Given the description of an element on the screen output the (x, y) to click on. 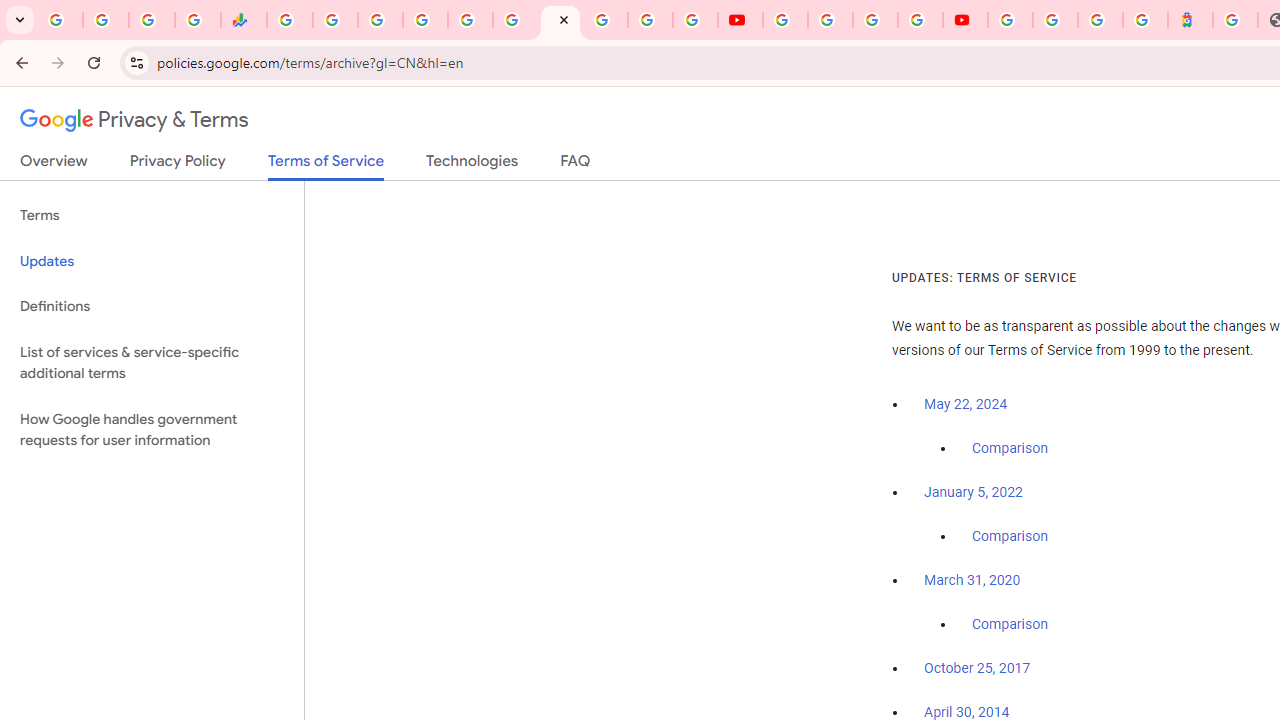
Content Creator Programs & Opportunities - YouTube Creators (965, 20)
Atour Hotel - Google hotels (1190, 20)
List of services & service-specific additional terms (152, 362)
YouTube (740, 20)
How Google handles government requests for user information (152, 429)
Google Workspace Admin Community (60, 20)
May 22, 2024 (966, 404)
Definitions (152, 306)
